Given the description of an element on the screen output the (x, y) to click on. 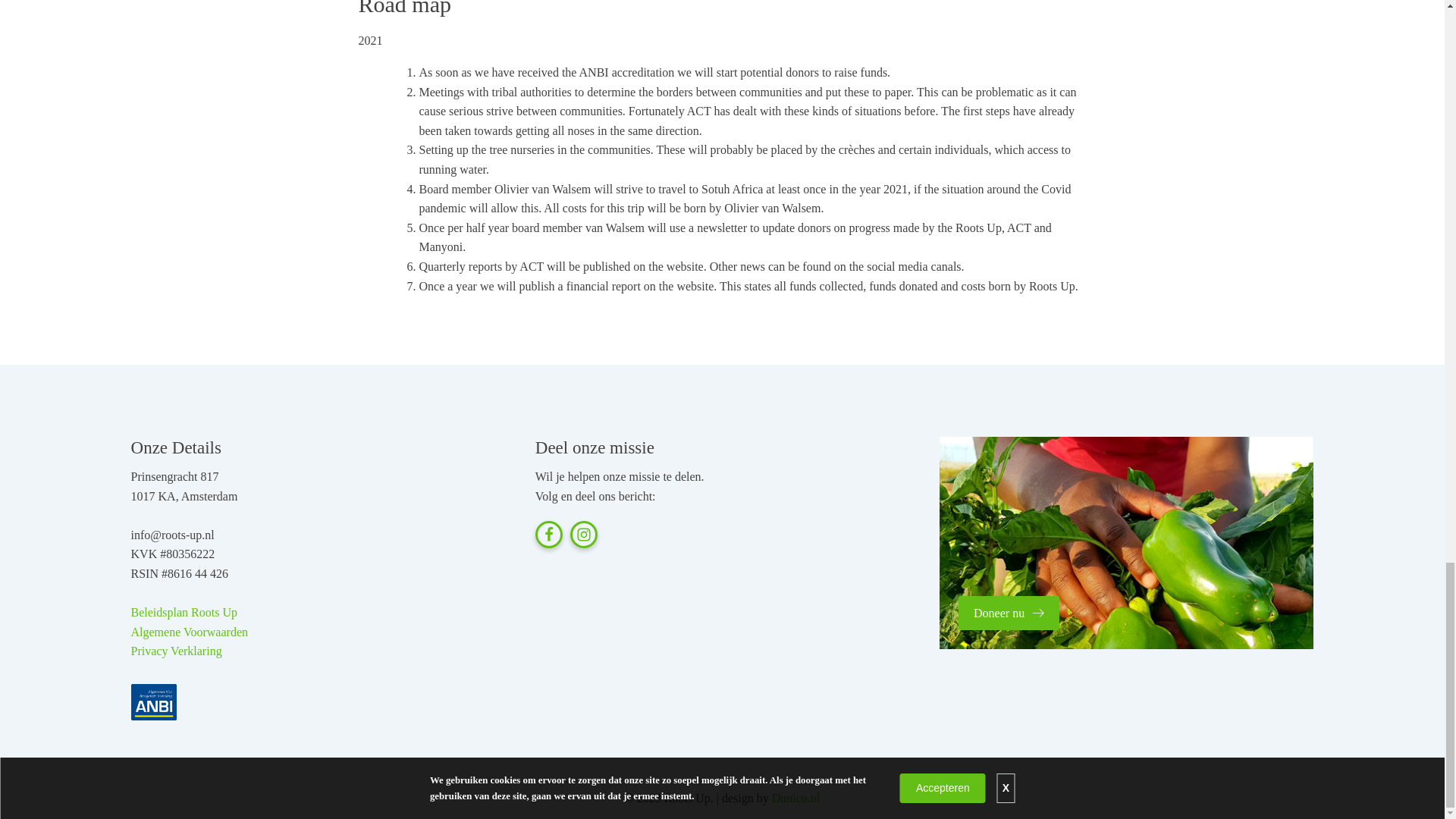
Beleidsplan Roots Up (184, 612)
Privacy Verklaring (176, 650)
Algemene Voorwaarden  (190, 631)
